Given the description of an element on the screen output the (x, y) to click on. 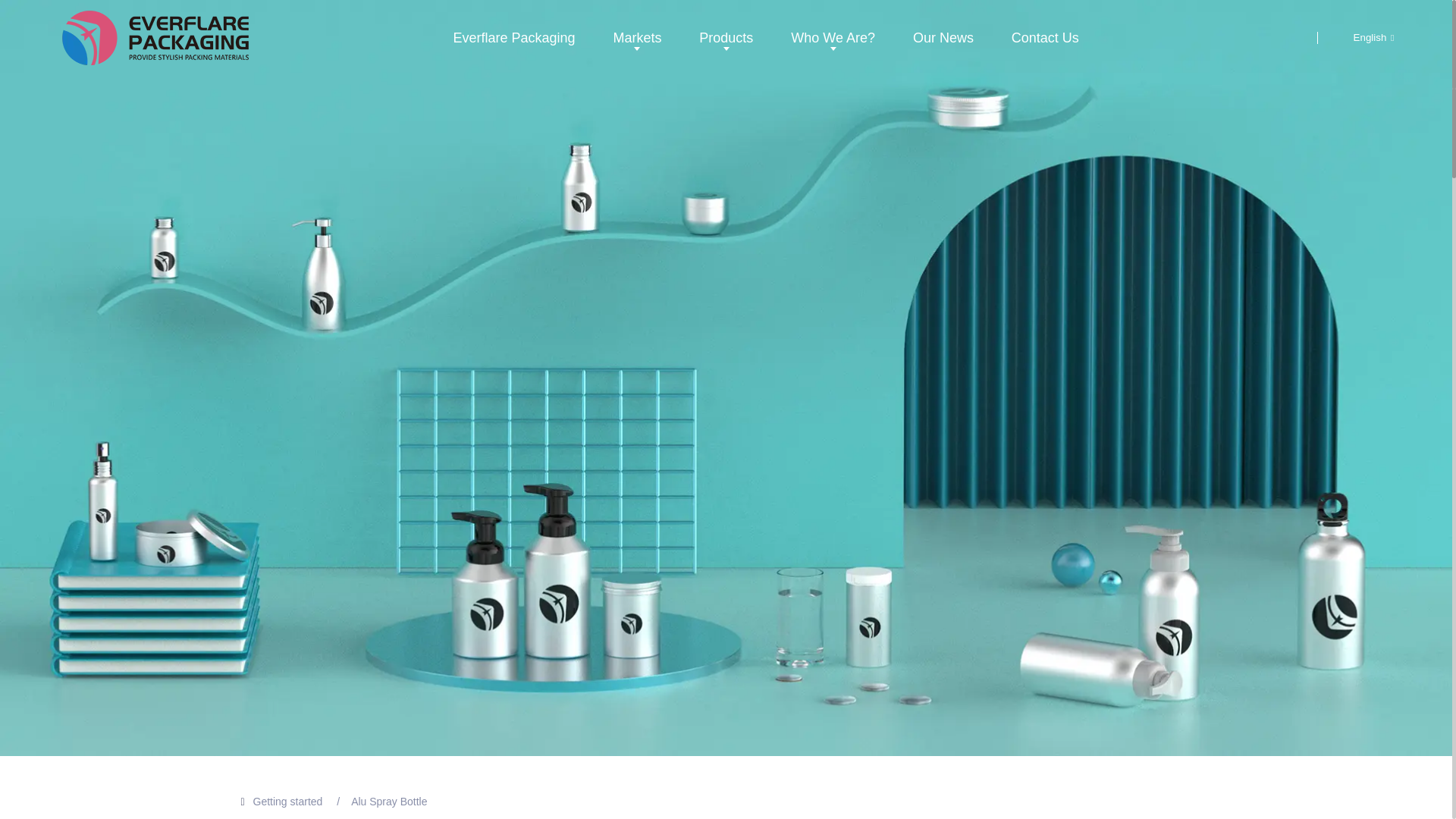
Everflare Packaging (513, 37)
Who We Are? (832, 37)
Markets (636, 37)
Products (725, 37)
